Given the description of an element on the screen output the (x, y) to click on. 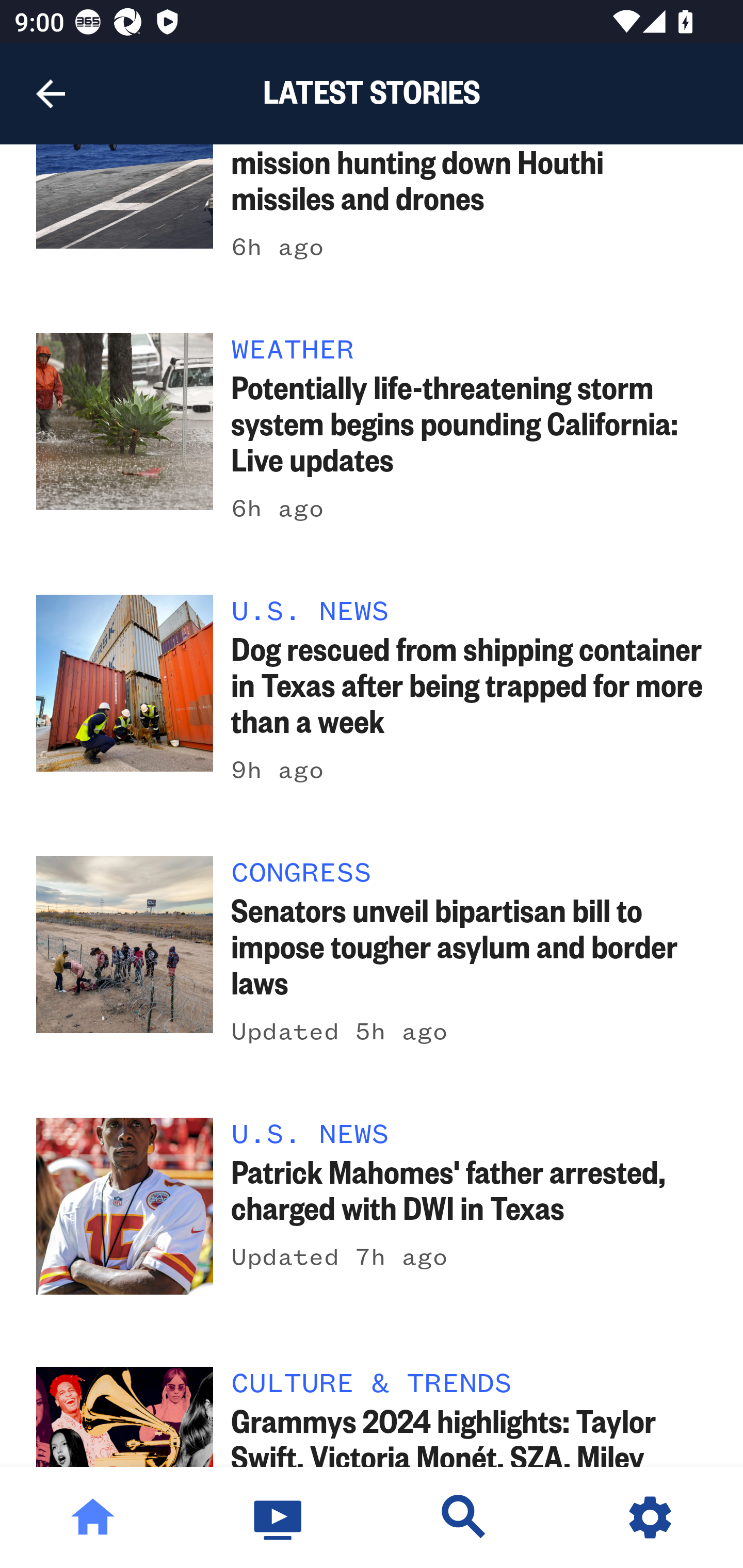
Navigate up (50, 93)
Watch (278, 1517)
Discover (464, 1517)
Settings (650, 1517)
